Given the description of an element on the screen output the (x, y) to click on. 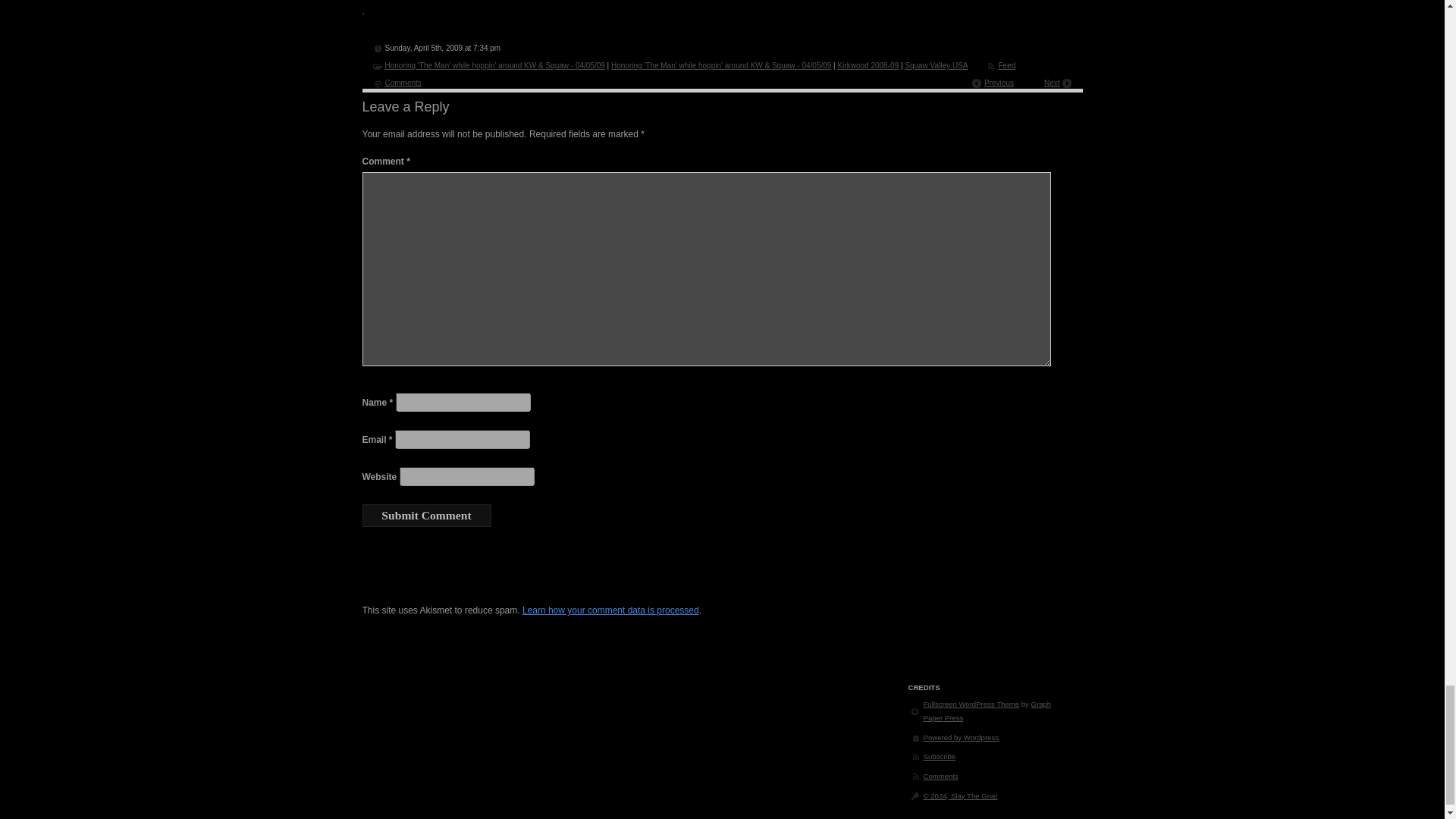
Submit Comment (427, 515)
Home (960, 795)
Fullscreen WordPress theme (971, 704)
Graph Paper Press (987, 710)
